Given the description of an element on the screen output the (x, y) to click on. 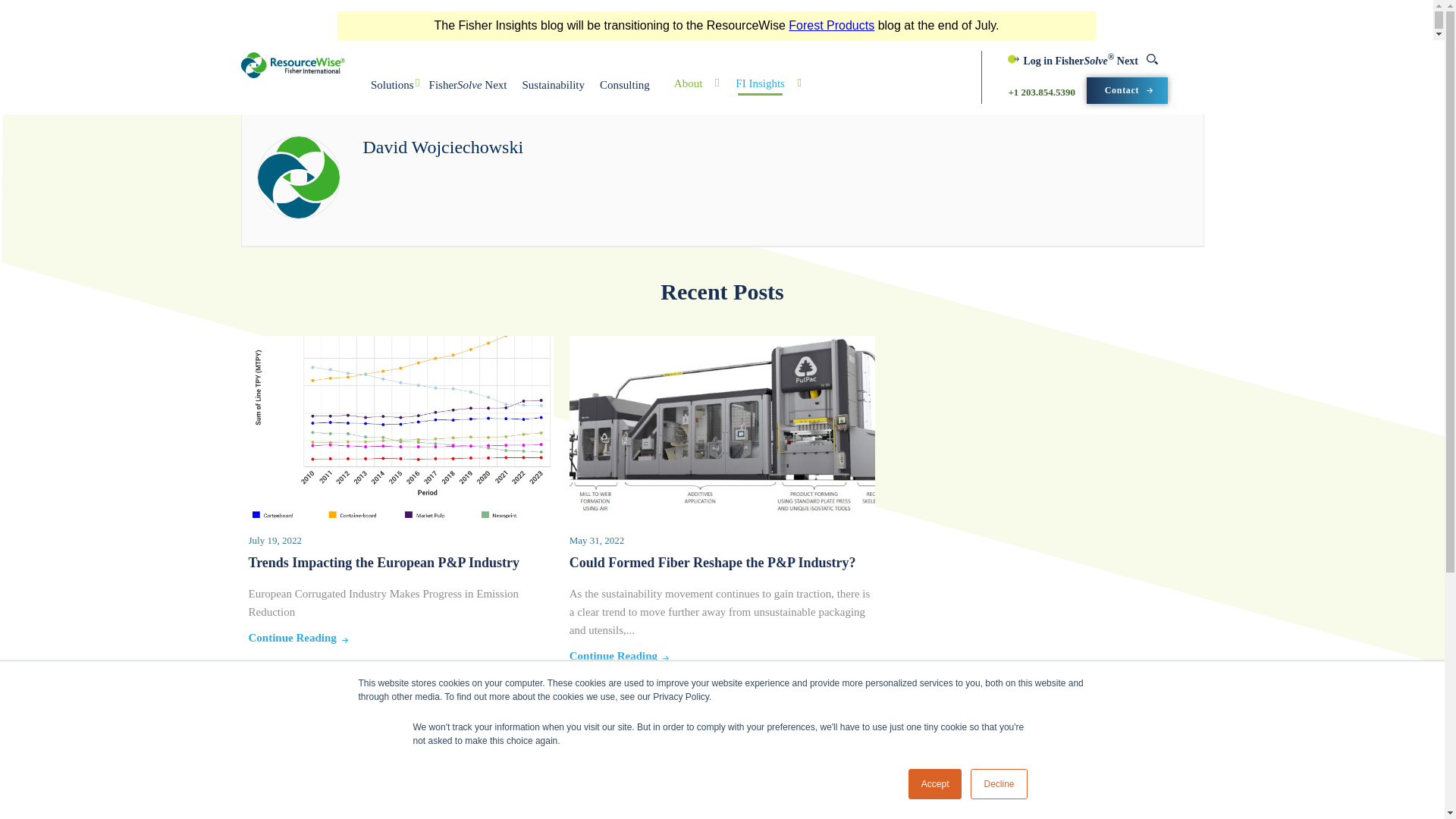
FI Insights (759, 83)
Accept (935, 784)
Consulting (625, 90)
Sustainability (553, 90)
Solutions (392, 90)
FisherSolve Next (468, 90)
Decline (998, 784)
Contact (1127, 90)
RW-FI-Color (293, 64)
Continue Reading (613, 655)
About (688, 83)
Continue Reading (292, 637)
Contact (1127, 90)
